Given the description of an element on the screen output the (x, y) to click on. 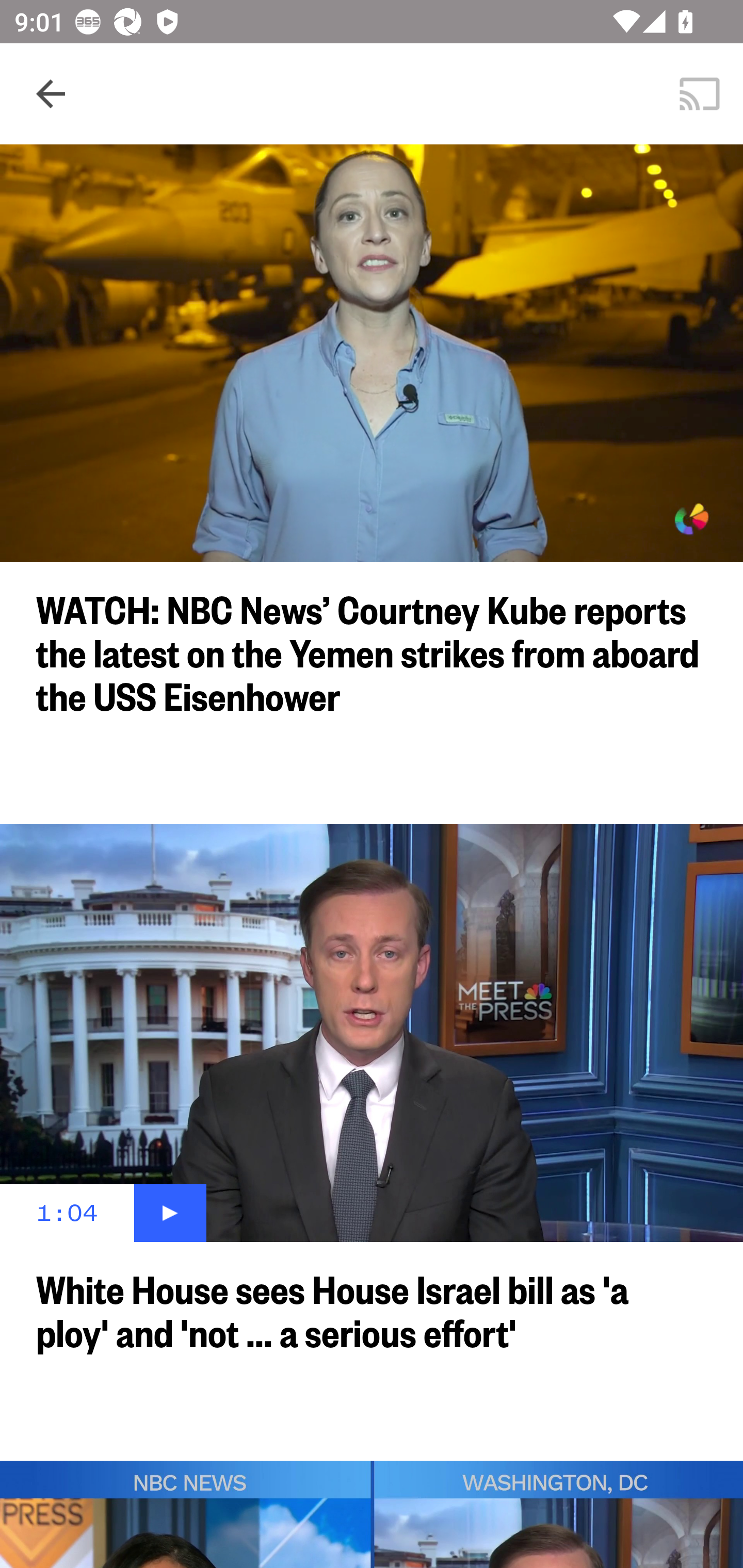
Navigate up (50, 93)
Cast. Disconnected (699, 93)
